Given the description of an element on the screen output the (x, y) to click on. 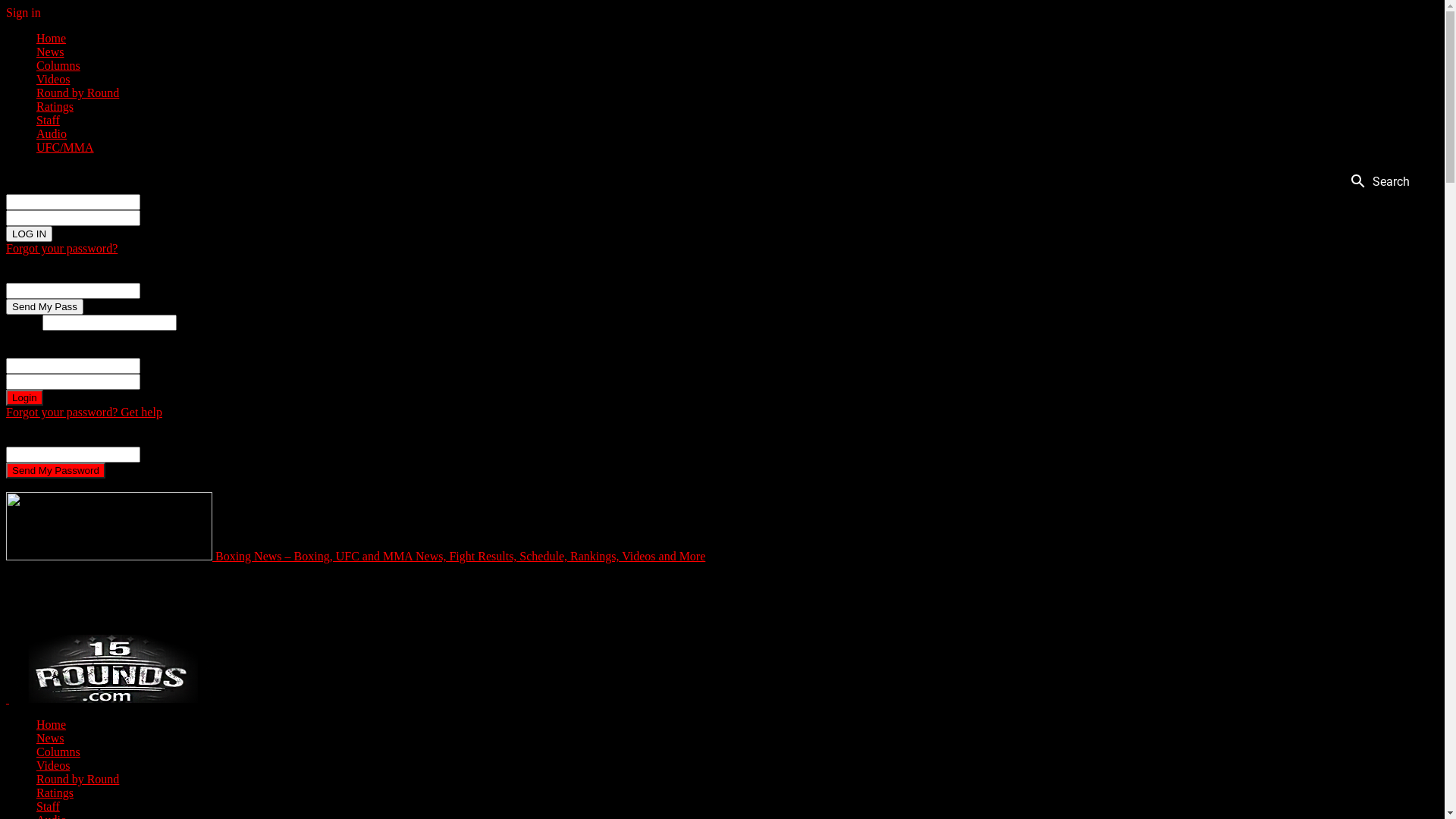
UFC/MMA Element type: text (65, 147)
Home Element type: text (50, 37)
Forgot your password? Element type: text (61, 247)
Round by Round Element type: text (77, 92)
News Element type: text (49, 737)
Audio Element type: text (51, 133)
Forgot your password? Get help Element type: text (84, 411)
Round by Round Element type: text (77, 778)
Advertisement Element type: hover (353, 597)
Columns Element type: text (58, 751)
Ratings Element type: text (54, 106)
Ratings Element type: text (54, 792)
News Element type: text (49, 51)
Home Element type: text (50, 724)
Staff Element type: text (47, 806)
Videos Element type: text (52, 765)
Columns Element type: text (58, 65)
Videos Element type: text (52, 78)
Sign in Element type: text (23, 12)
Staff Element type: text (47, 119)
